Given the description of an element on the screen output the (x, y) to click on. 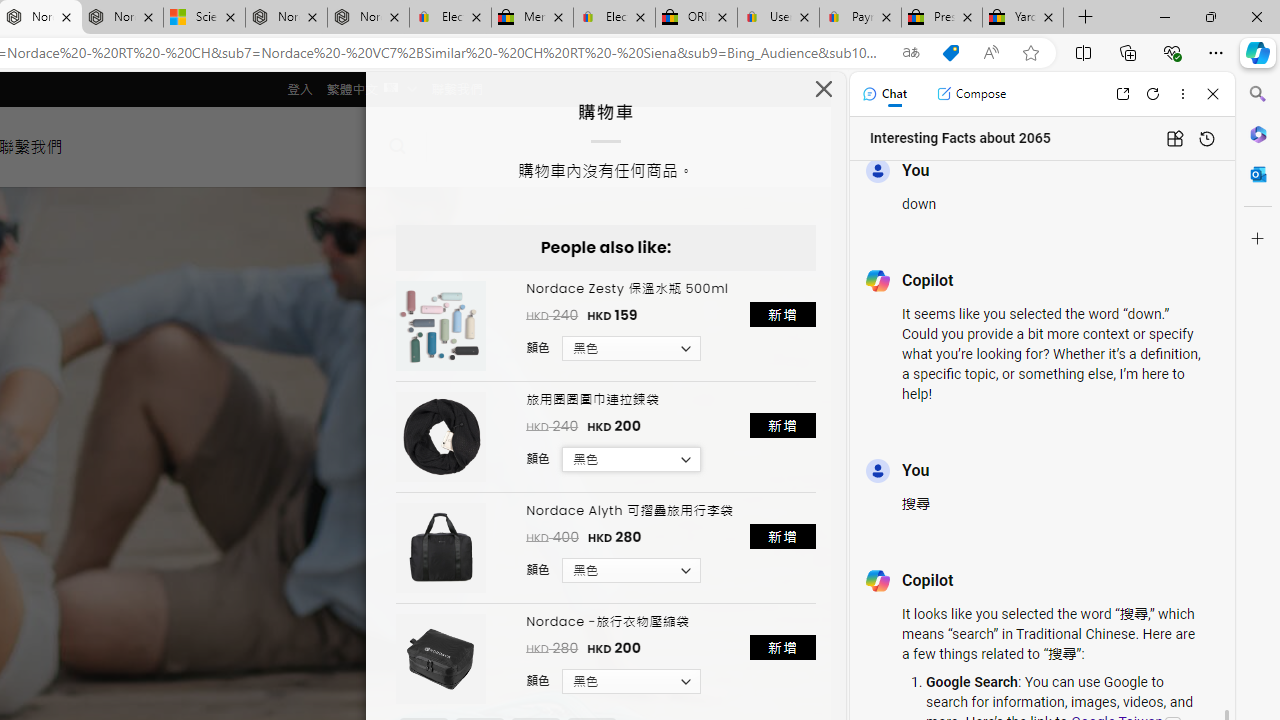
This site has coupons! Shopping in Microsoft Edge (950, 53)
  0   (464, 146)
